Given the description of an element on the screen output the (x, y) to click on. 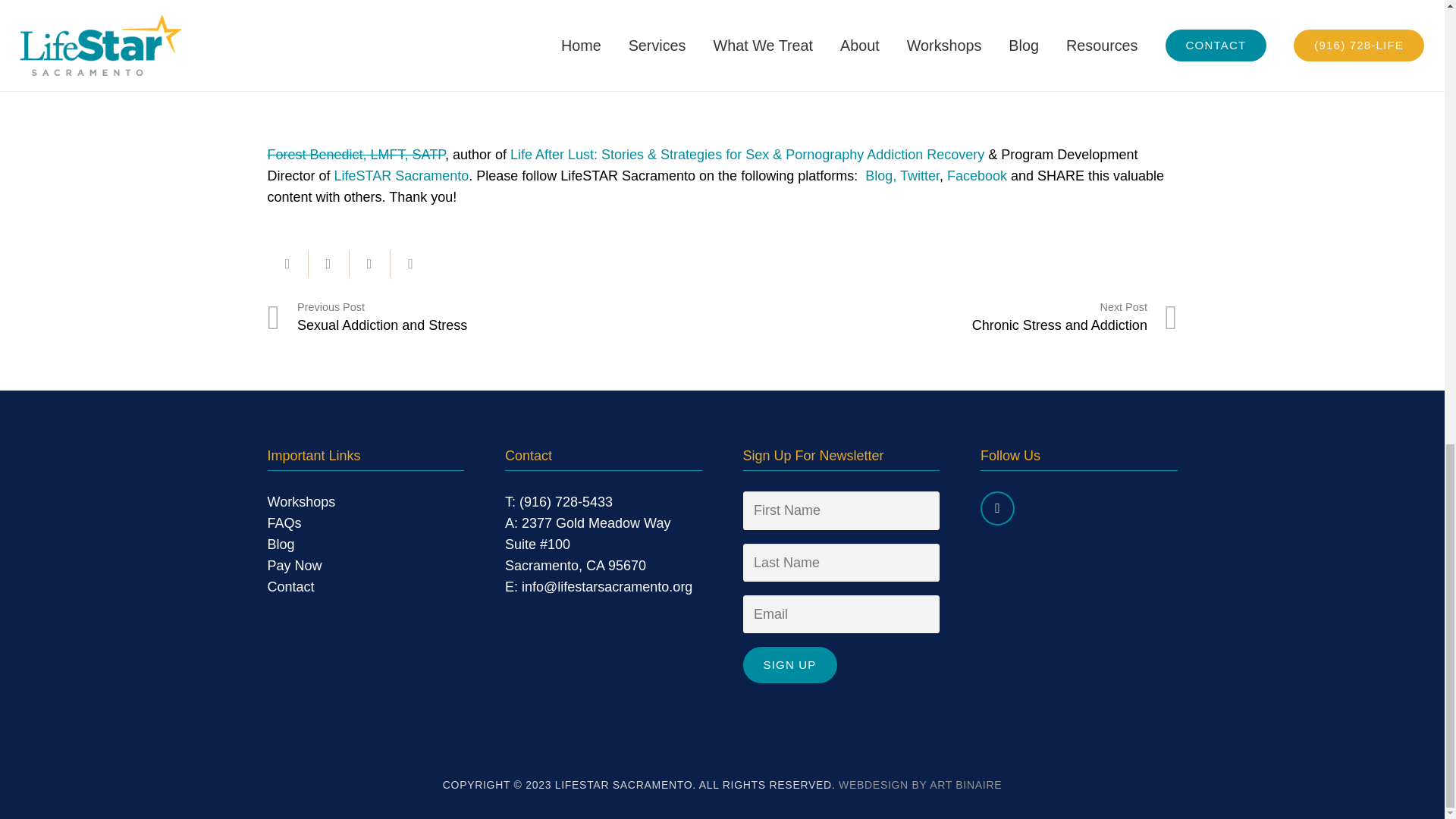
Email this (286, 263)
Sign up (789, 665)
Sexual Addiction and Stress (494, 317)
Tweet this (369, 263)
Facebook (996, 508)
Share this (328, 263)
Chronic Stress and Addiction (949, 317)
Share this (410, 263)
